Given the description of an element on the screen output the (x, y) to click on. 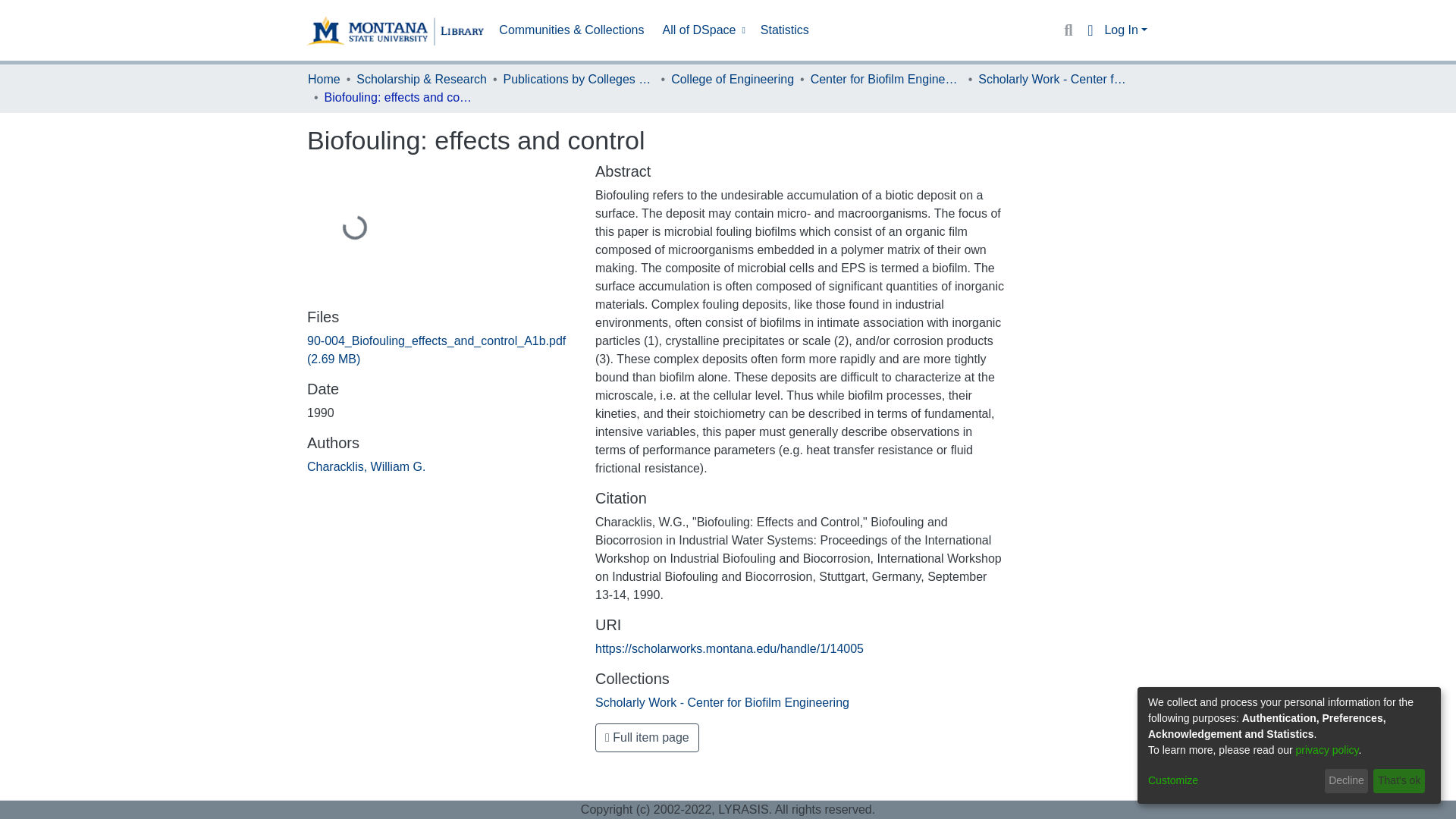
Decline (1346, 781)
Search (1067, 30)
Full item page (646, 737)
Scholarly Work - Center for Biofilm Engineering (721, 702)
That's ok (1399, 781)
Home (323, 79)
All of DSpace (702, 30)
Statistics (784, 30)
Scholarly Work - Center for Biofilm Engineering (1053, 79)
Characklis, William G. (366, 466)
Language switch (1089, 30)
Log In (1125, 29)
privacy policy (1326, 749)
College of Engineering (732, 79)
Customize (1233, 780)
